Given the description of an element on the screen output the (x, y) to click on. 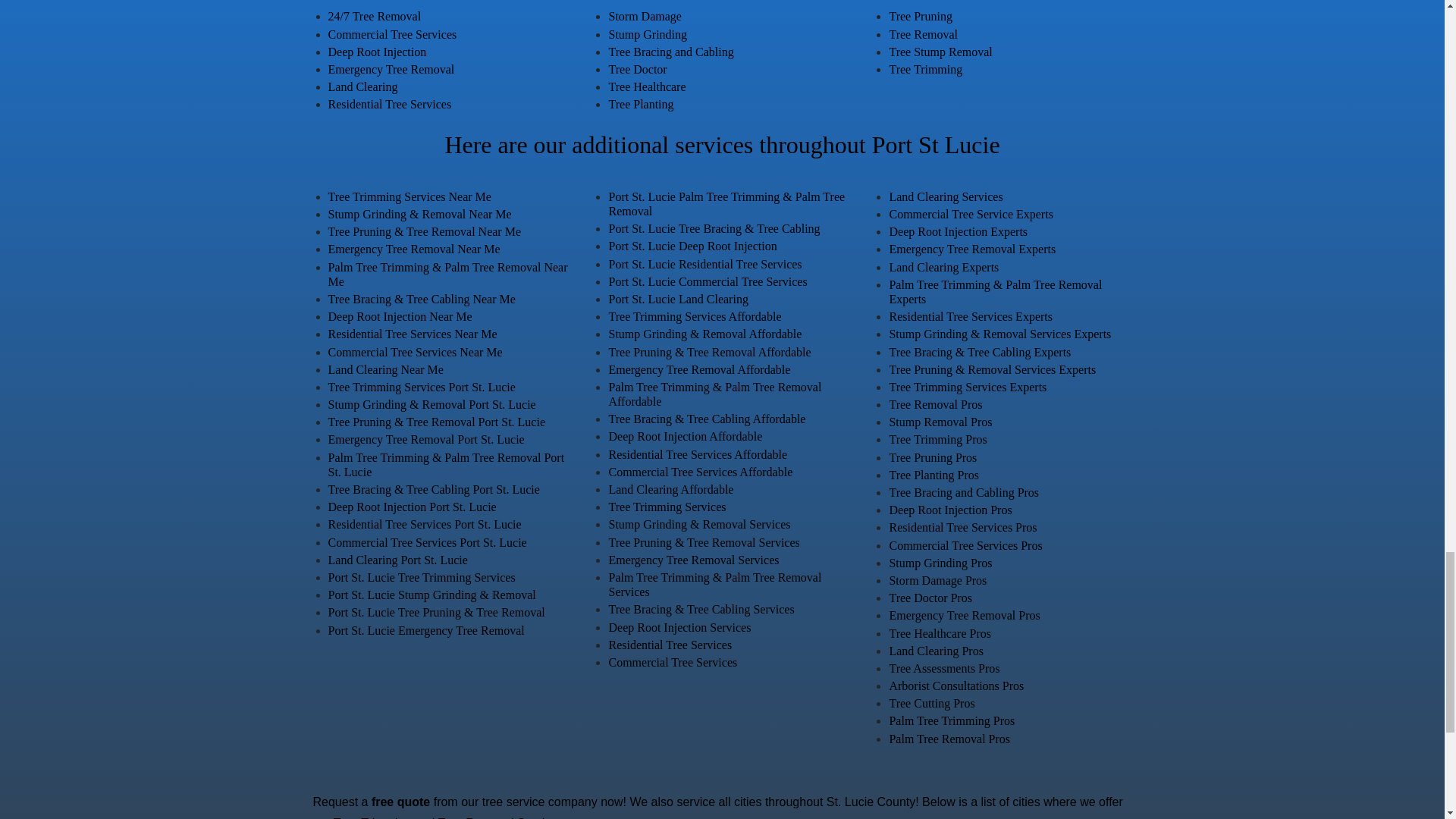
Residential Tree Services (389, 103)
Emergency Tree Removal (390, 69)
Commercial Tree Services (392, 33)
Deep Root Injection (376, 51)
Land Clearing (362, 86)
